Given the description of an element on the screen output the (x, y) to click on. 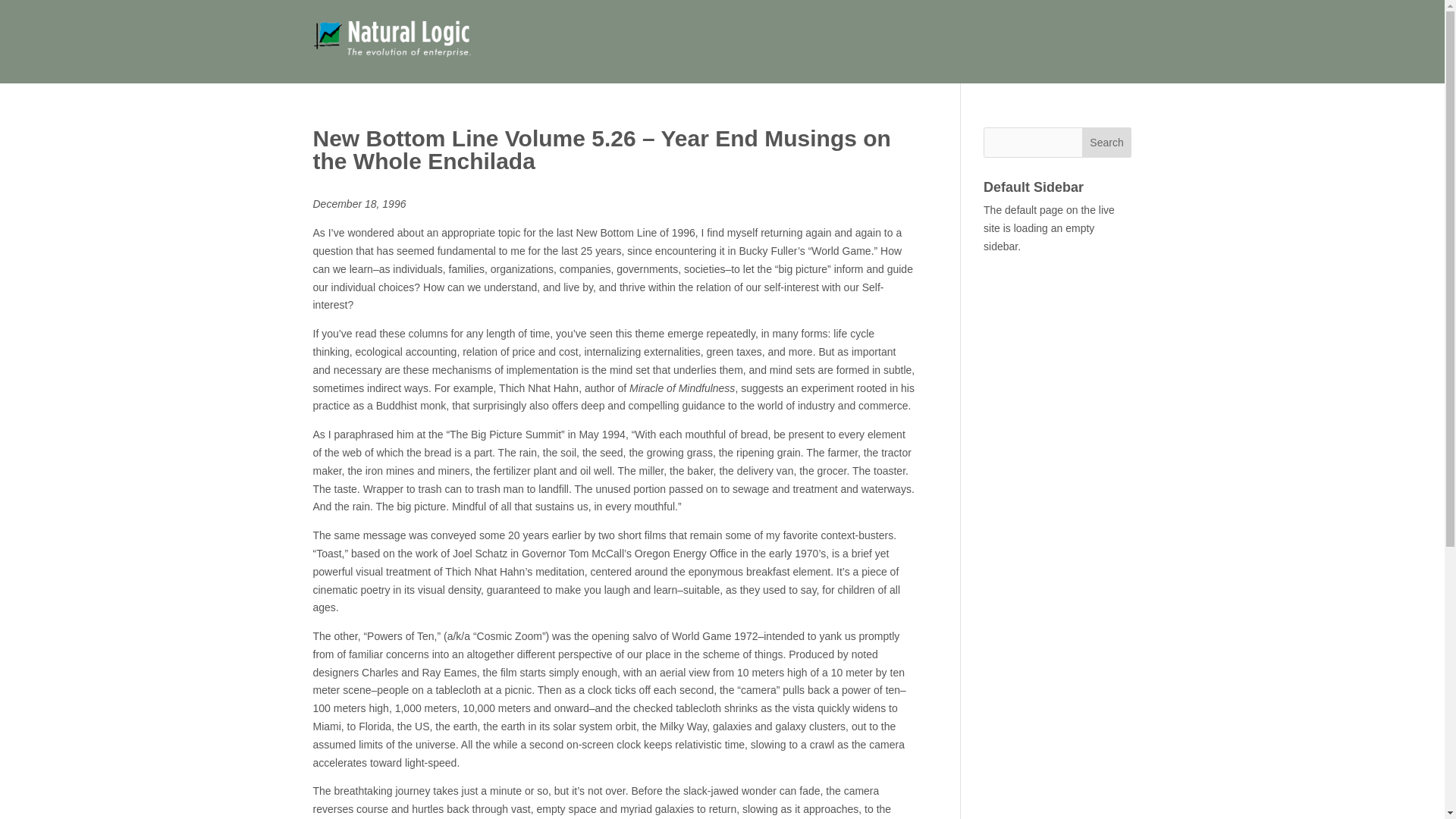
gflogo-evolution-smalla (398, 41)
Search (1106, 142)
